Given the description of an element on the screen output the (x, y) to click on. 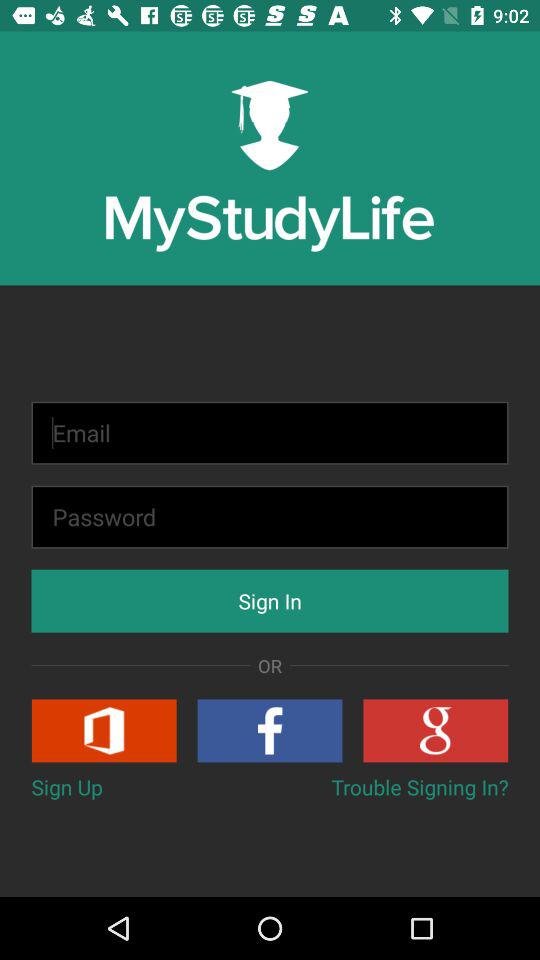
log in using facebook account (269, 730)
